Given the description of an element on the screen output the (x, y) to click on. 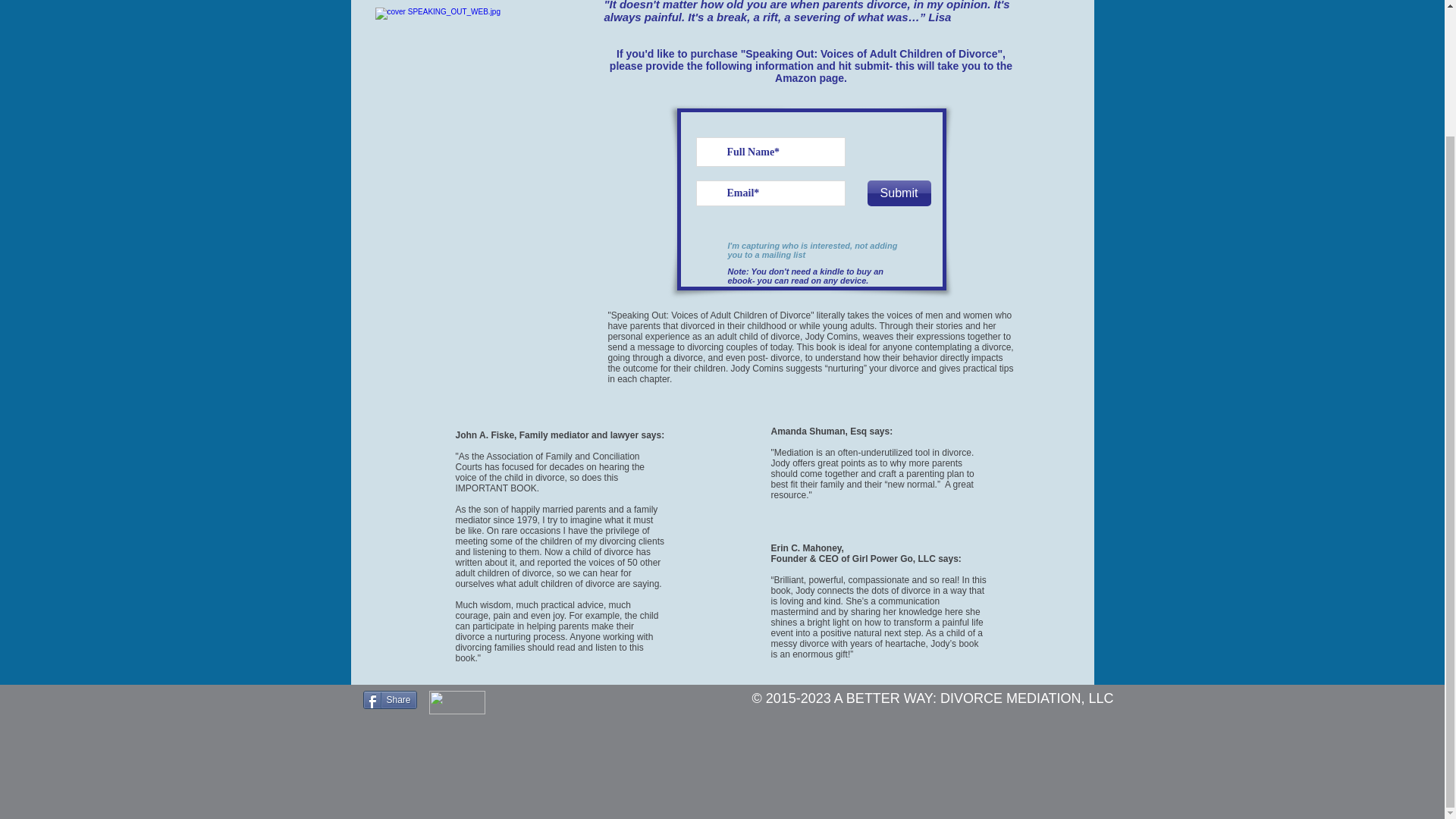
Share (389, 700)
Submit (899, 193)
Twitter Follow (526, 702)
Share (389, 700)
